Given the description of an element on the screen output the (x, y) to click on. 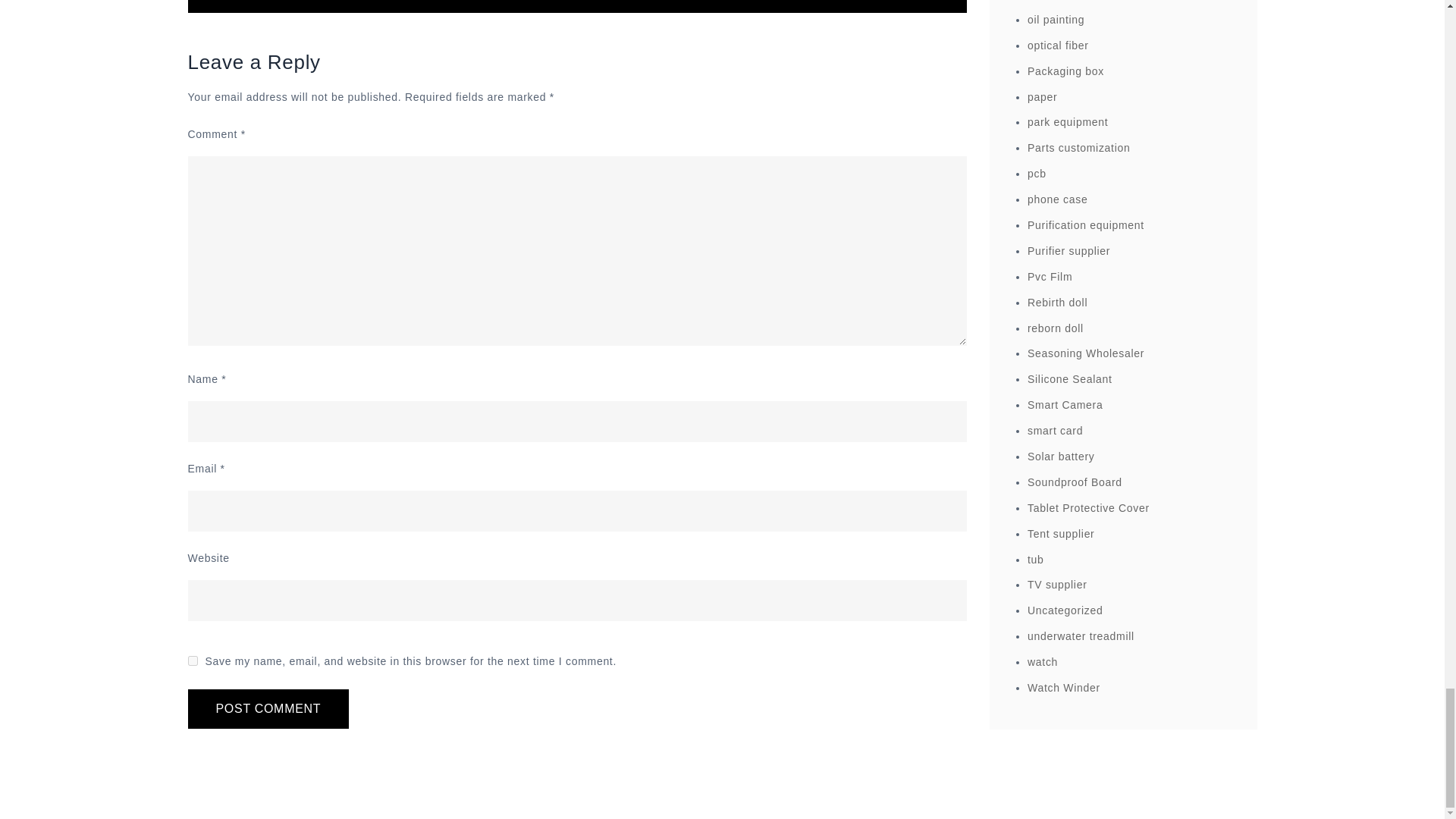
yes (192, 660)
Post Comment (268, 708)
Post Comment (268, 708)
